Given the description of an element on the screen output the (x, y) to click on. 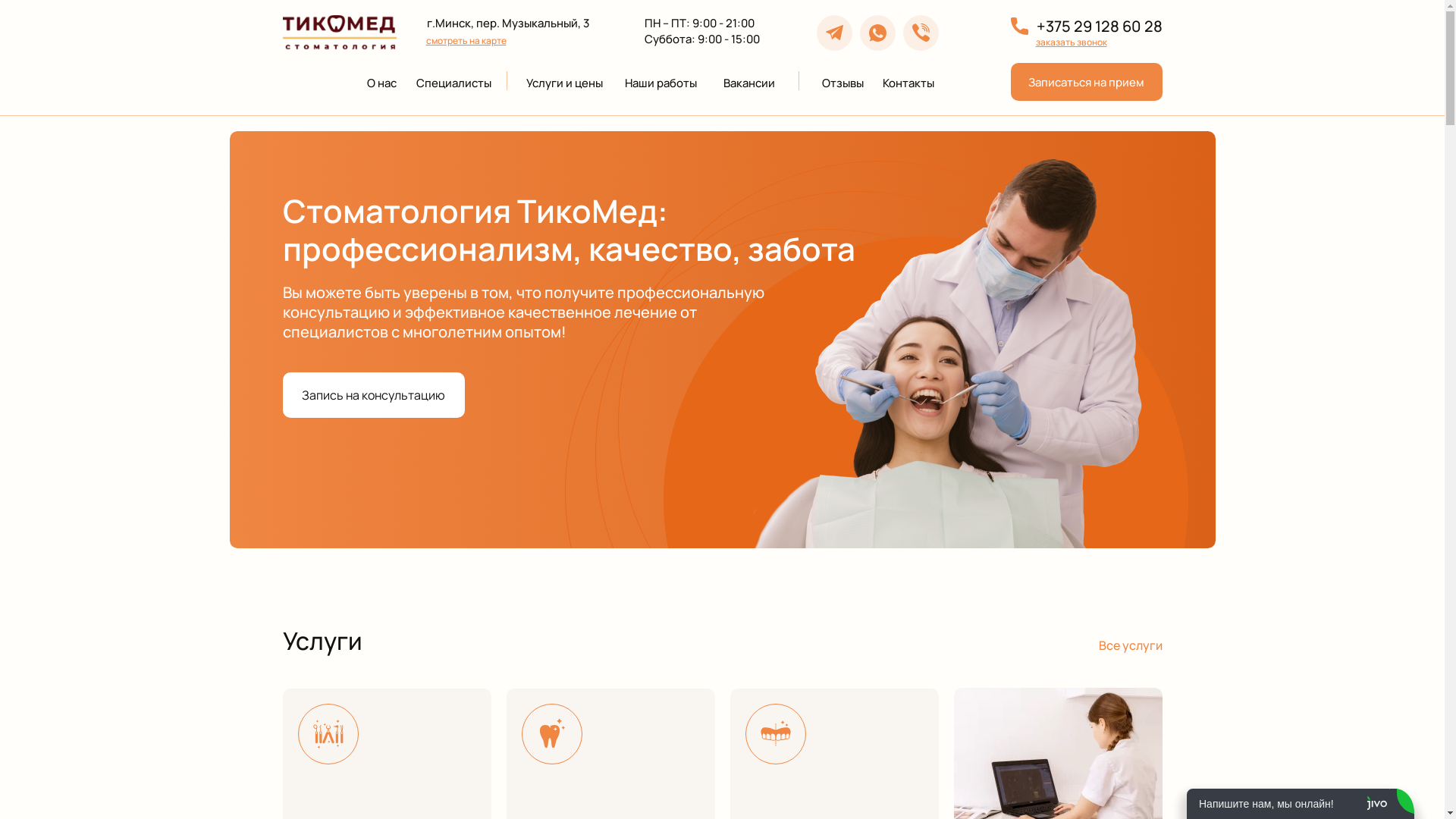
+375 29 128 60 28 Element type: text (1101, 26)
